Given the description of an element on the screen output the (x, y) to click on. 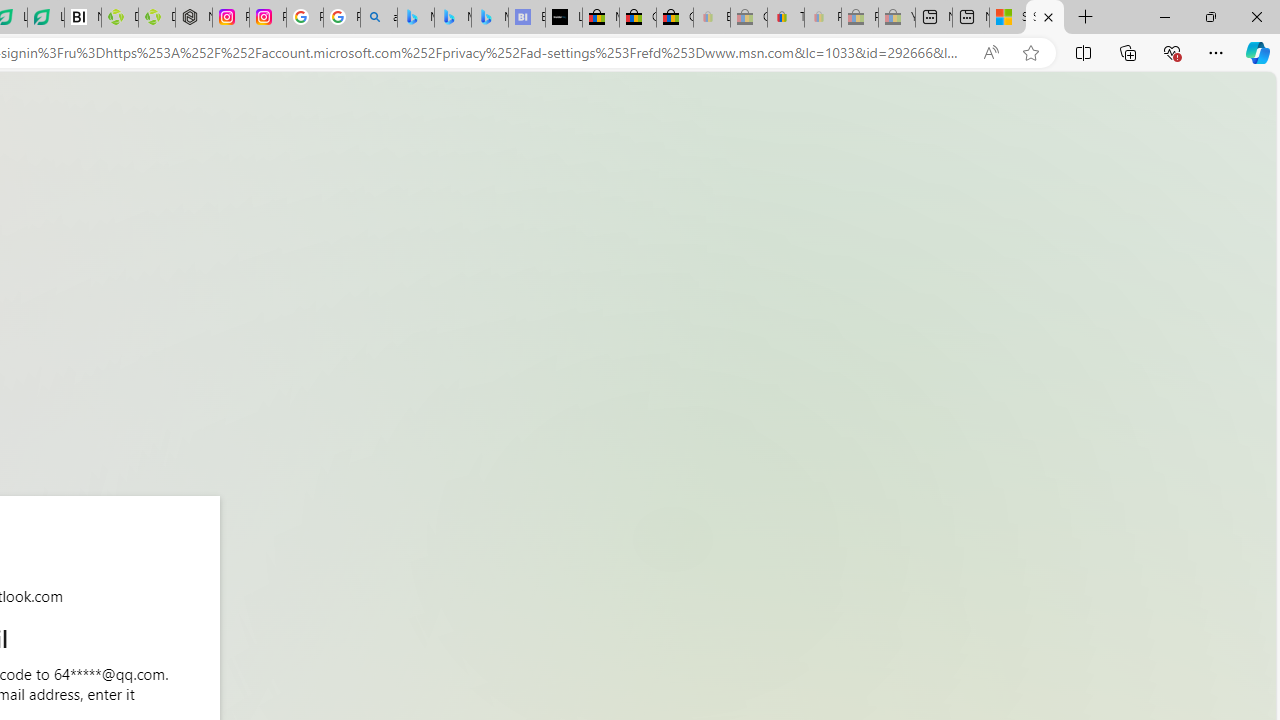
Shanghai, China hourly forecast | Microsoft Weather (1007, 17)
Nordace - Nordace Edin Collection (193, 17)
